Given the description of an element on the screen output the (x, y) to click on. 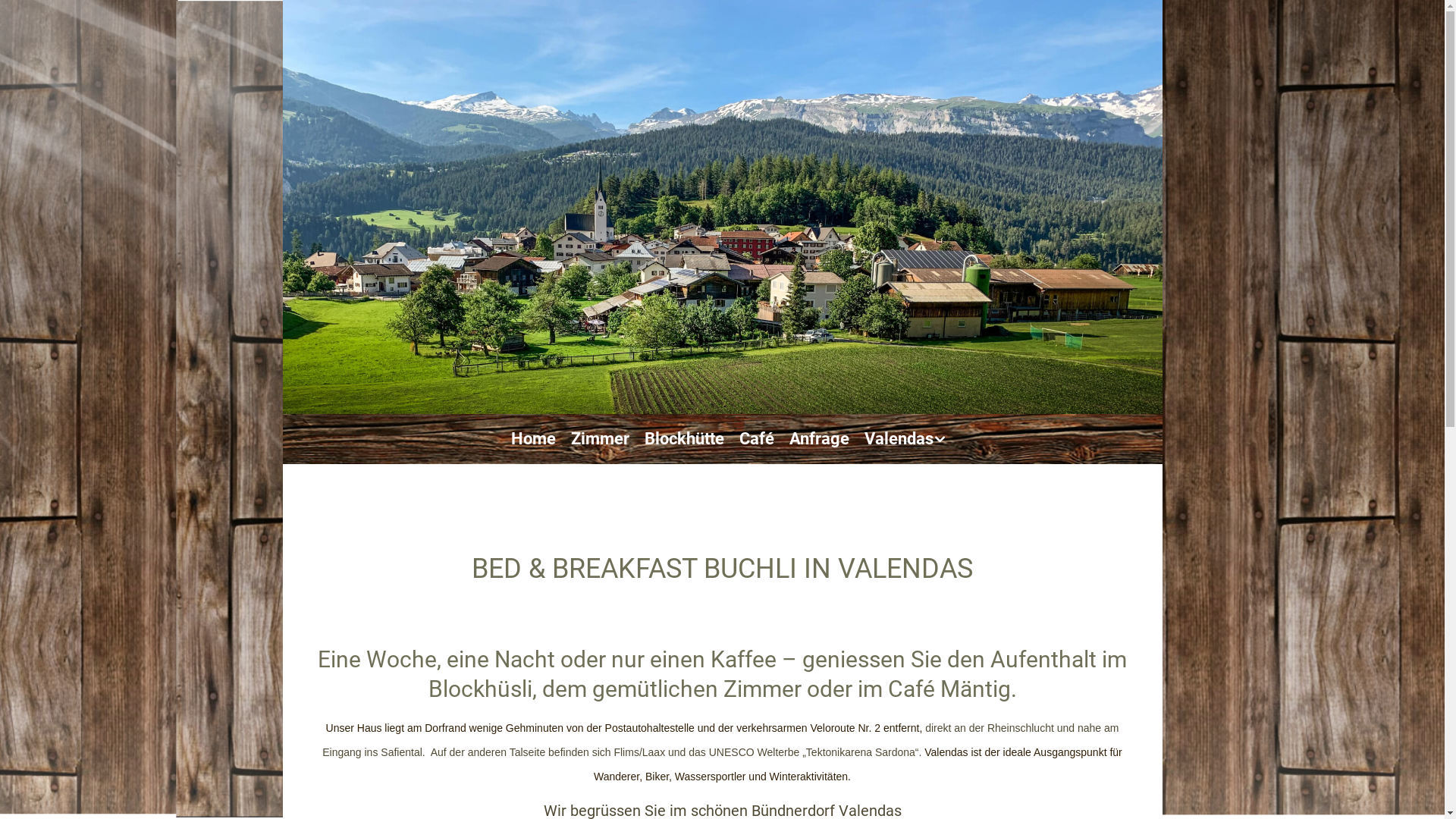
Zimmer Element type: text (600, 438)
Home Element type: text (533, 438)
Valendas Element type: text (898, 438)
Anfrage Element type: text (819, 438)
